Given the description of an element on the screen output the (x, y) to click on. 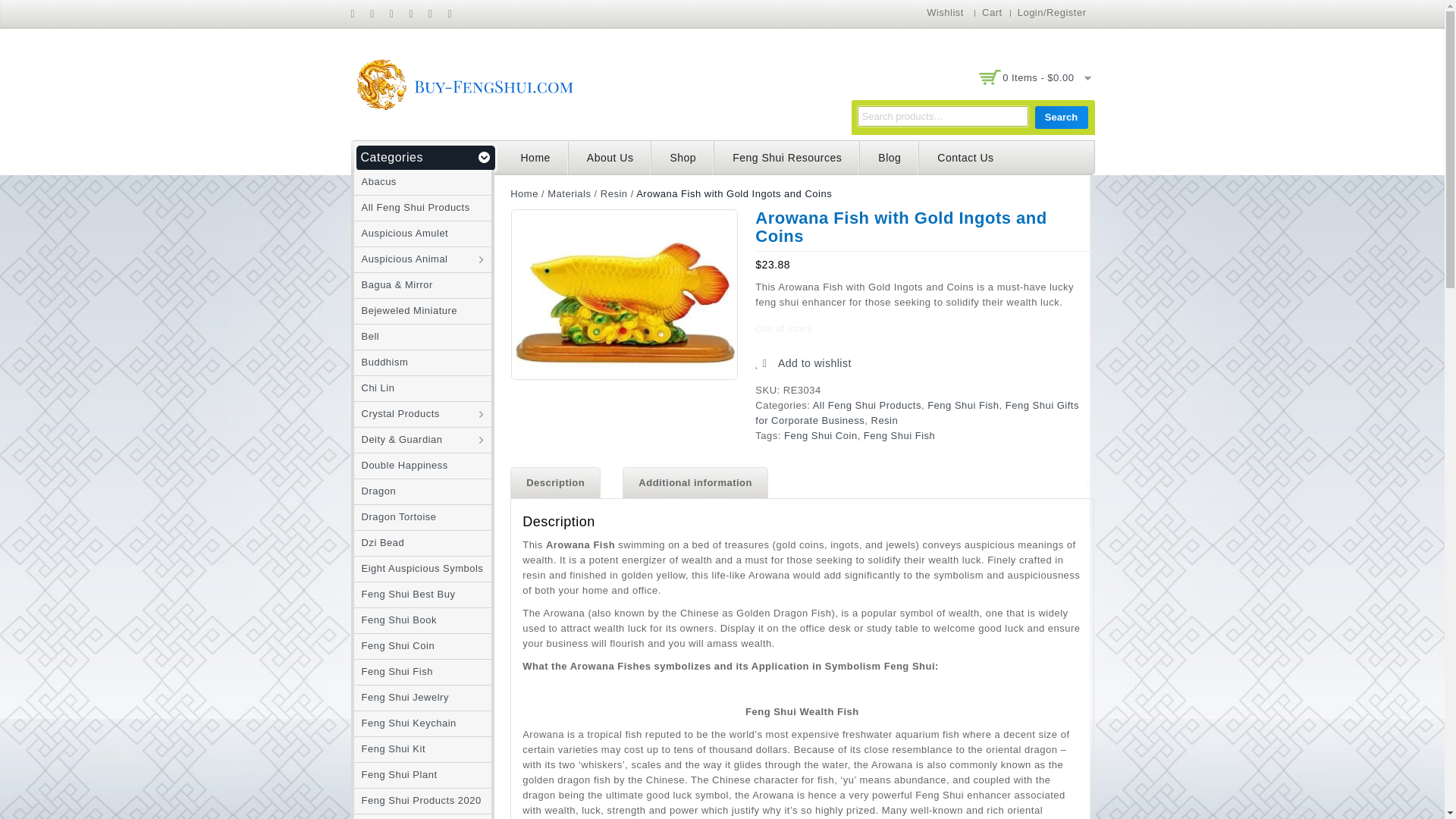
Bejeweled Miniature (405, 310)
Buy-FengShui.com (464, 83)
Buddhism (380, 361)
Auspicious Amulet (400, 233)
Bell (365, 336)
Search (1060, 117)
View your shopping cart (1038, 77)
Cart (992, 12)
Arowana Fish with Gold Ingots and Coins (624, 294)
All Feng Shui Products (410, 206)
View your shopping cart (1034, 78)
Auspicious Animal (399, 258)
Abacus (374, 181)
Wishlist (944, 12)
Chi Lin (373, 387)
